Given the description of an element on the screen output the (x, y) to click on. 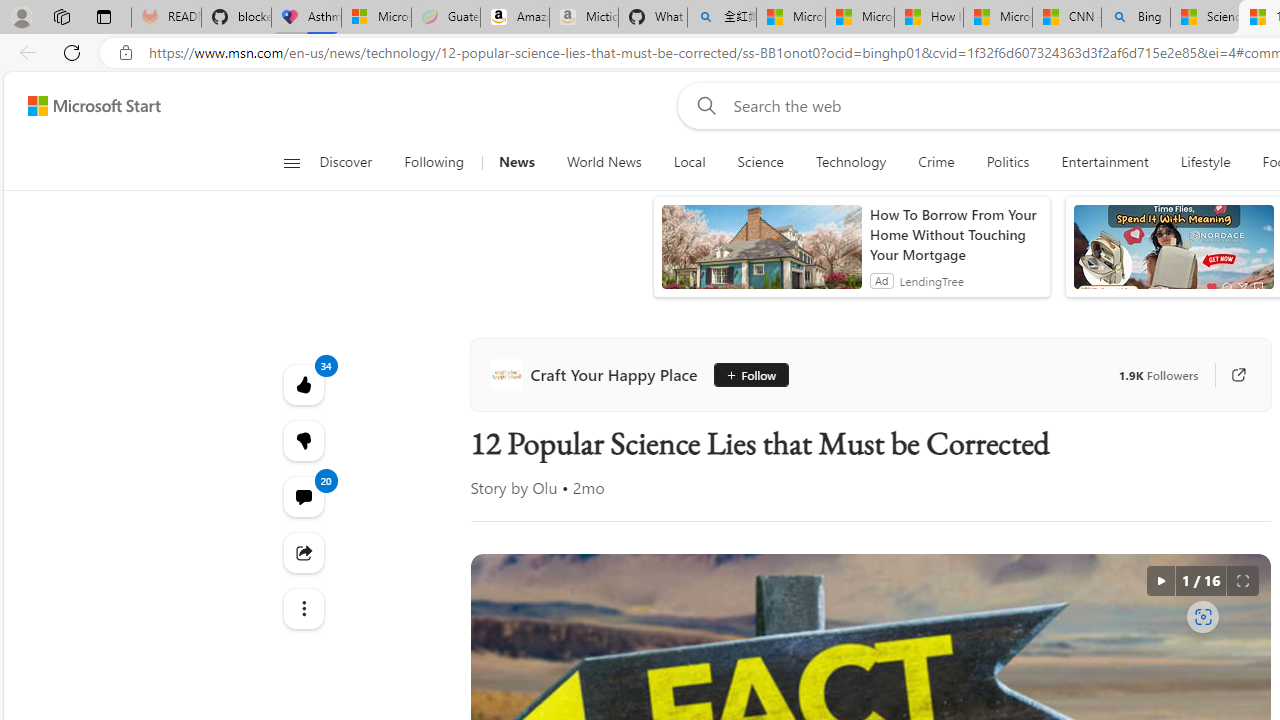
Craft Your Happy Place (598, 374)
CNN - MSN (1066, 17)
LendingTree (930, 280)
anim-content (1172, 255)
Follow (744, 374)
34 (302, 440)
